Given the description of an element on the screen output the (x, y) to click on. 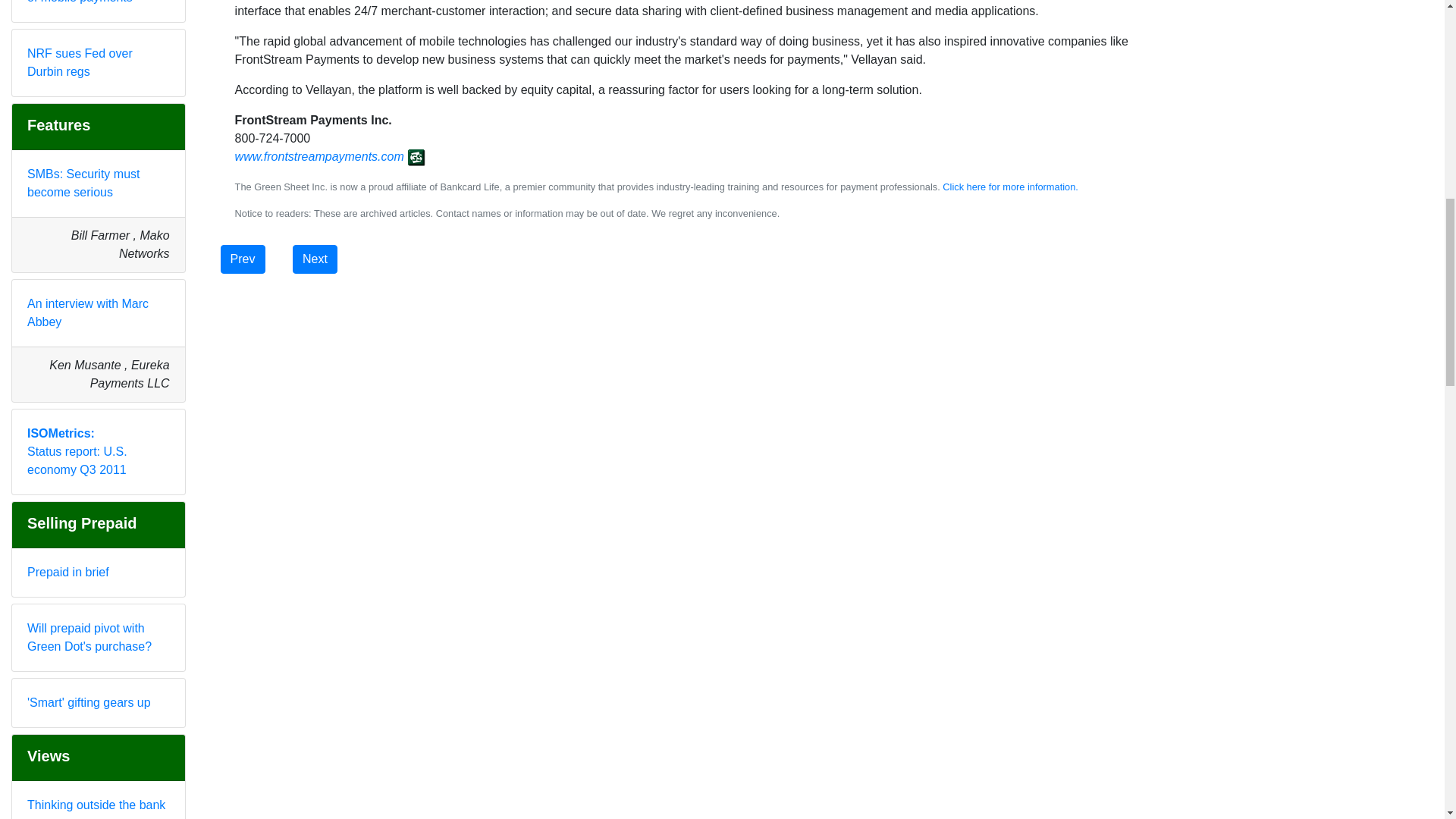
Prev (242, 258)
Click here for more information. (1010, 186)
www.frontstreampayments.com (319, 155)
Next (314, 258)
